Given the description of an element on the screen output the (x, y) to click on. 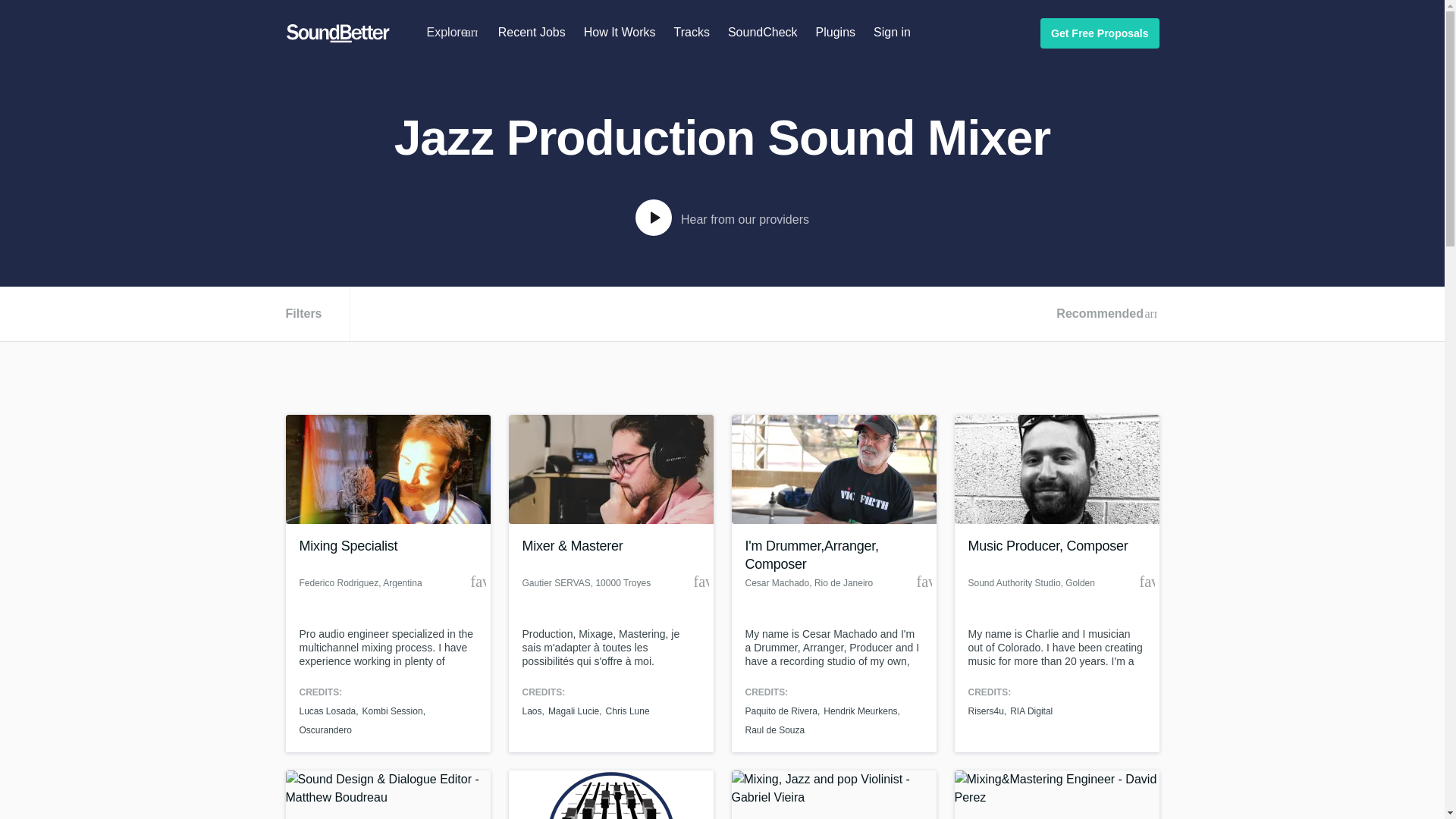
SoundBetter (337, 33)
